Given the description of an element on the screen output the (x, y) to click on. 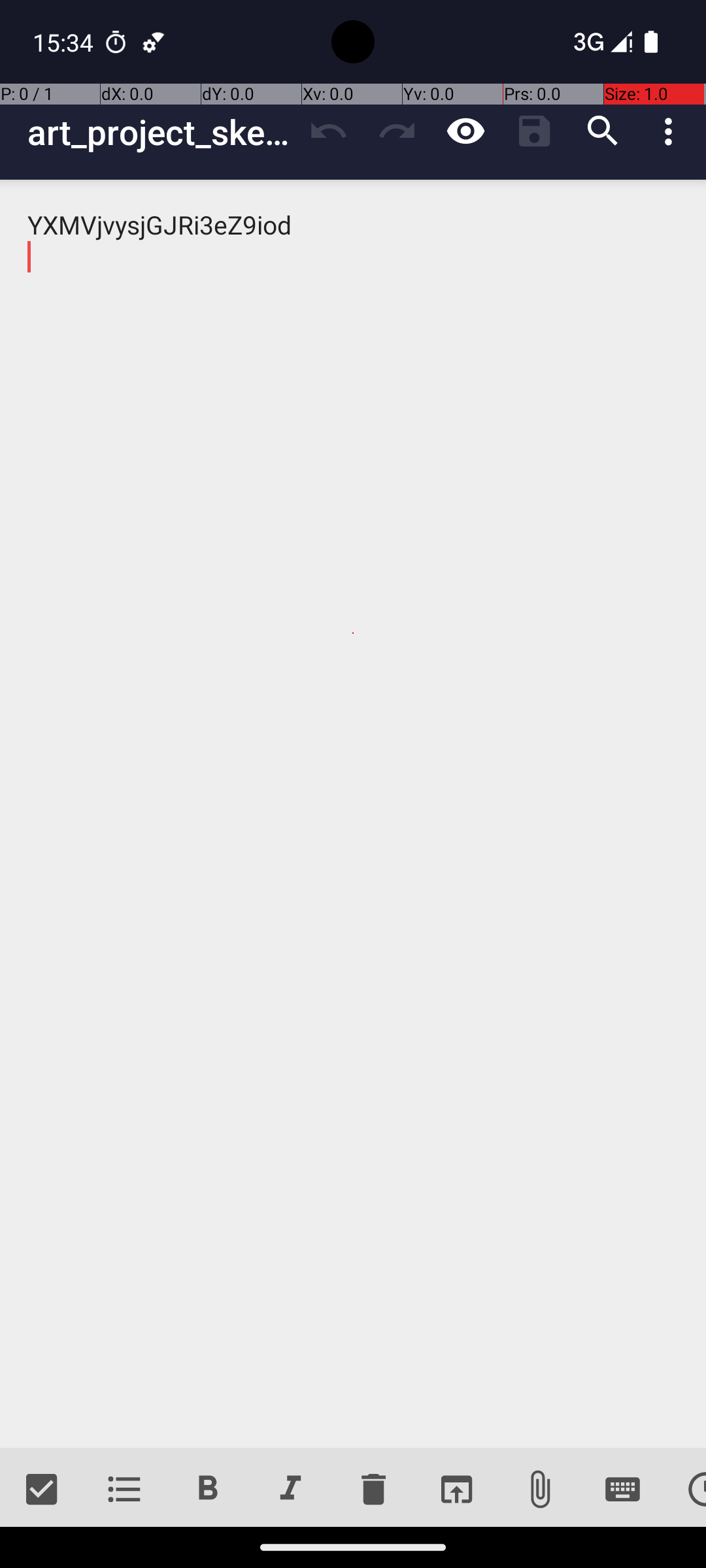
art_project_sketches_backup Element type: android.widget.TextView (160, 131)
YXMVjvysjGJRi3eZ9iod
 Element type: android.widget.EditText (353, 813)
